Given the description of an element on the screen output the (x, y) to click on. 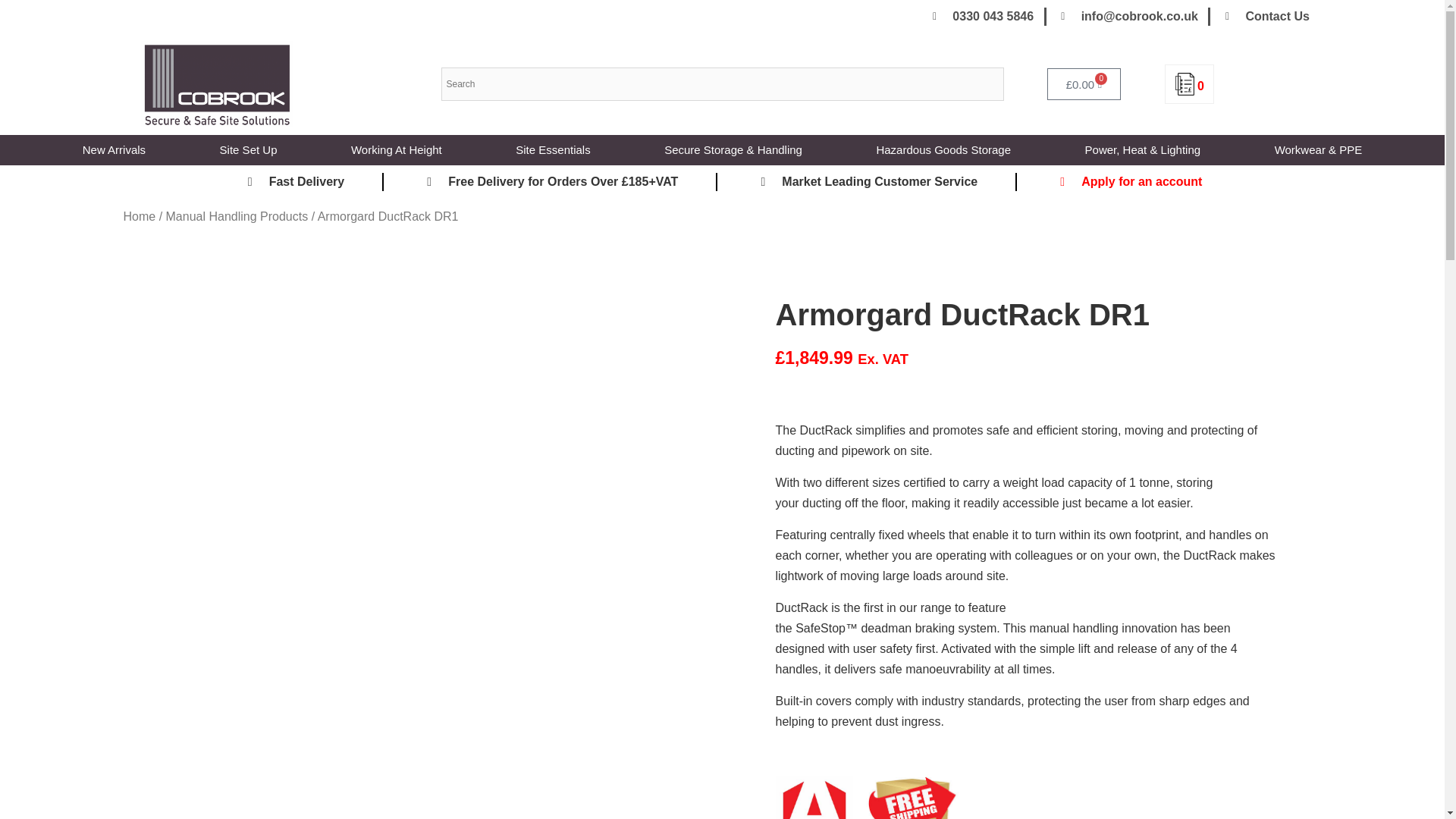
0330 043 5846 (980, 16)
Site Essentials (553, 150)
New Arrivals (114, 150)
0 (1189, 85)
Working At Height (396, 150)
Site Set Up (248, 150)
Contact Us (1264, 16)
